Given the description of an element on the screen output the (x, y) to click on. 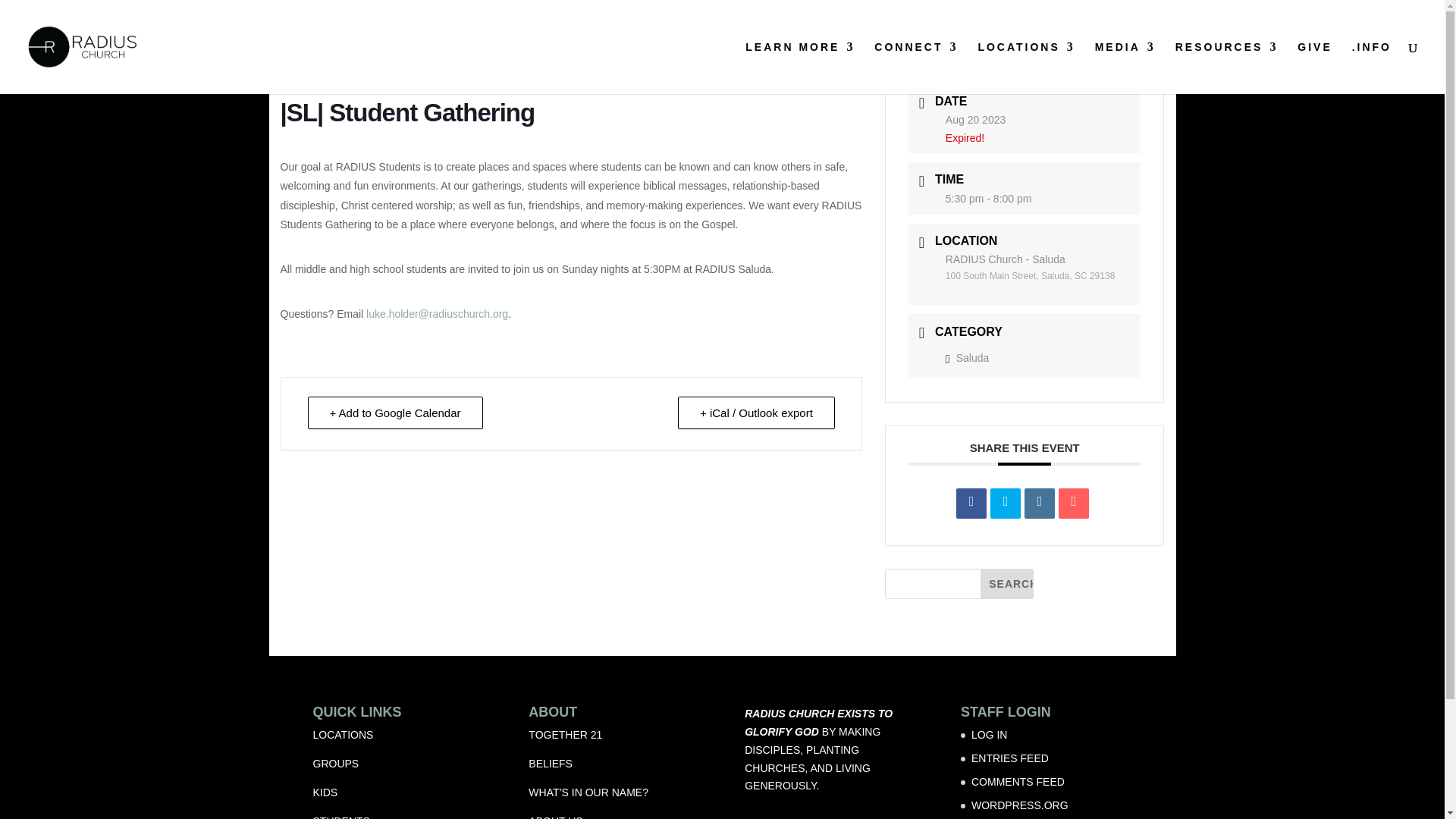
Email (1073, 503)
Search (1006, 583)
CONNECT (916, 67)
Linkedin (1039, 503)
LOCATIONS (1025, 67)
Tweet (1005, 503)
RESOURCES (1226, 67)
LEARN MORE (799, 67)
Share on Facebook (971, 503)
MEDIA (1125, 67)
